Given the description of an element on the screen output the (x, y) to click on. 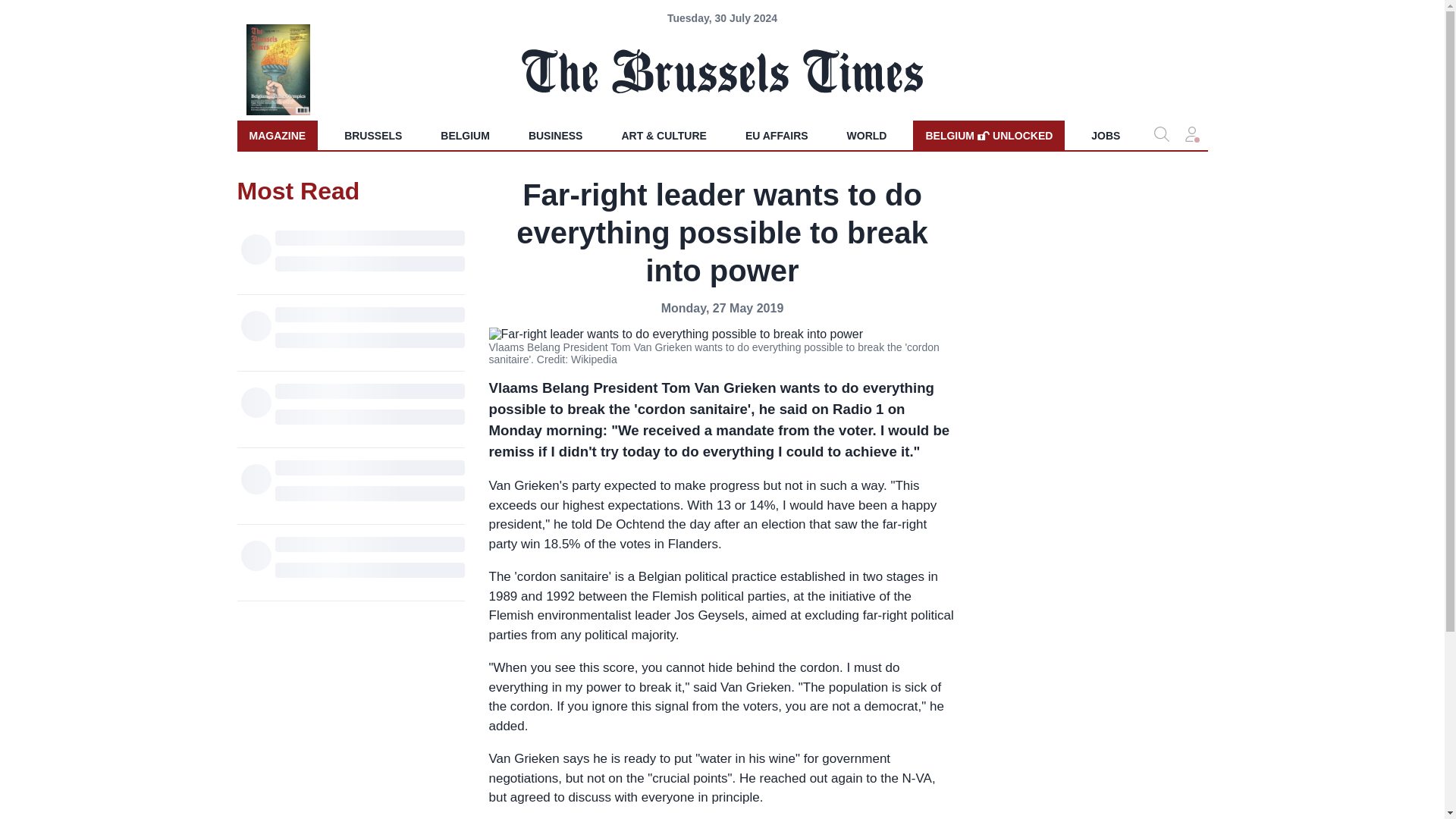
WORLD (866, 135)
BUSINESS (555, 135)
EU AFFAIRS (988, 135)
BRUSSELS (777, 135)
JOBS (372, 135)
MAGAZINE (1105, 135)
BELGIUM (276, 135)
